Given the description of an element on the screen output the (x, y) to click on. 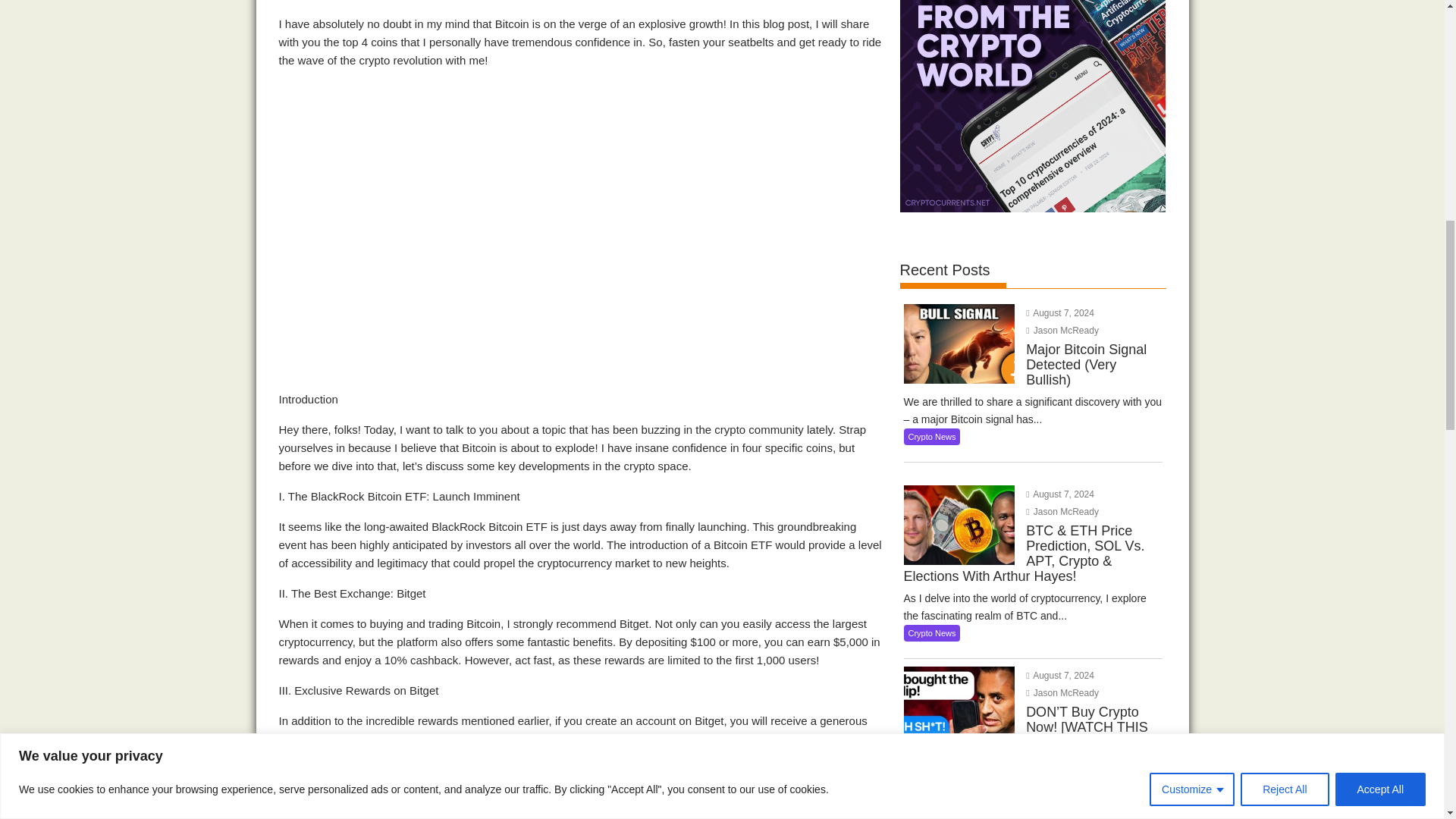
Jason McReady (1062, 511)
Jason McReady (1062, 330)
